Given the description of an element on the screen output the (x, y) to click on. 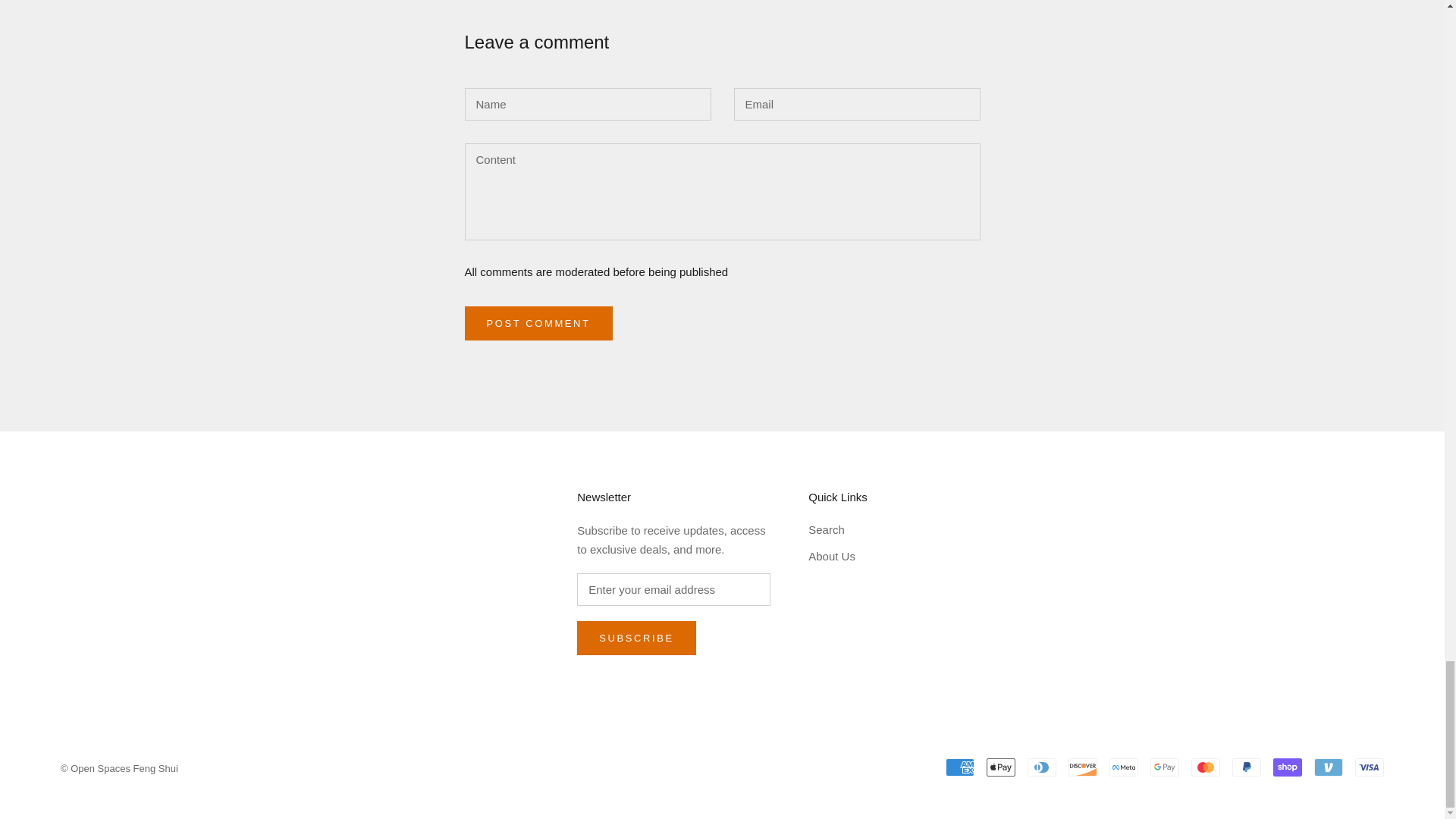
Diners Club (1042, 767)
Venmo (1328, 767)
SUBSCRIBE (635, 637)
Mastercard (1205, 767)
American Express (959, 767)
Apple Pay (1000, 767)
Meta Pay (1123, 767)
Discover (1082, 767)
Search (837, 529)
Google Pay (1164, 767)
About Us (837, 556)
Visa (1369, 767)
PayPal (1245, 767)
Shop Pay (1286, 767)
POST COMMENT (537, 323)
